Given the description of an element on the screen output the (x, y) to click on. 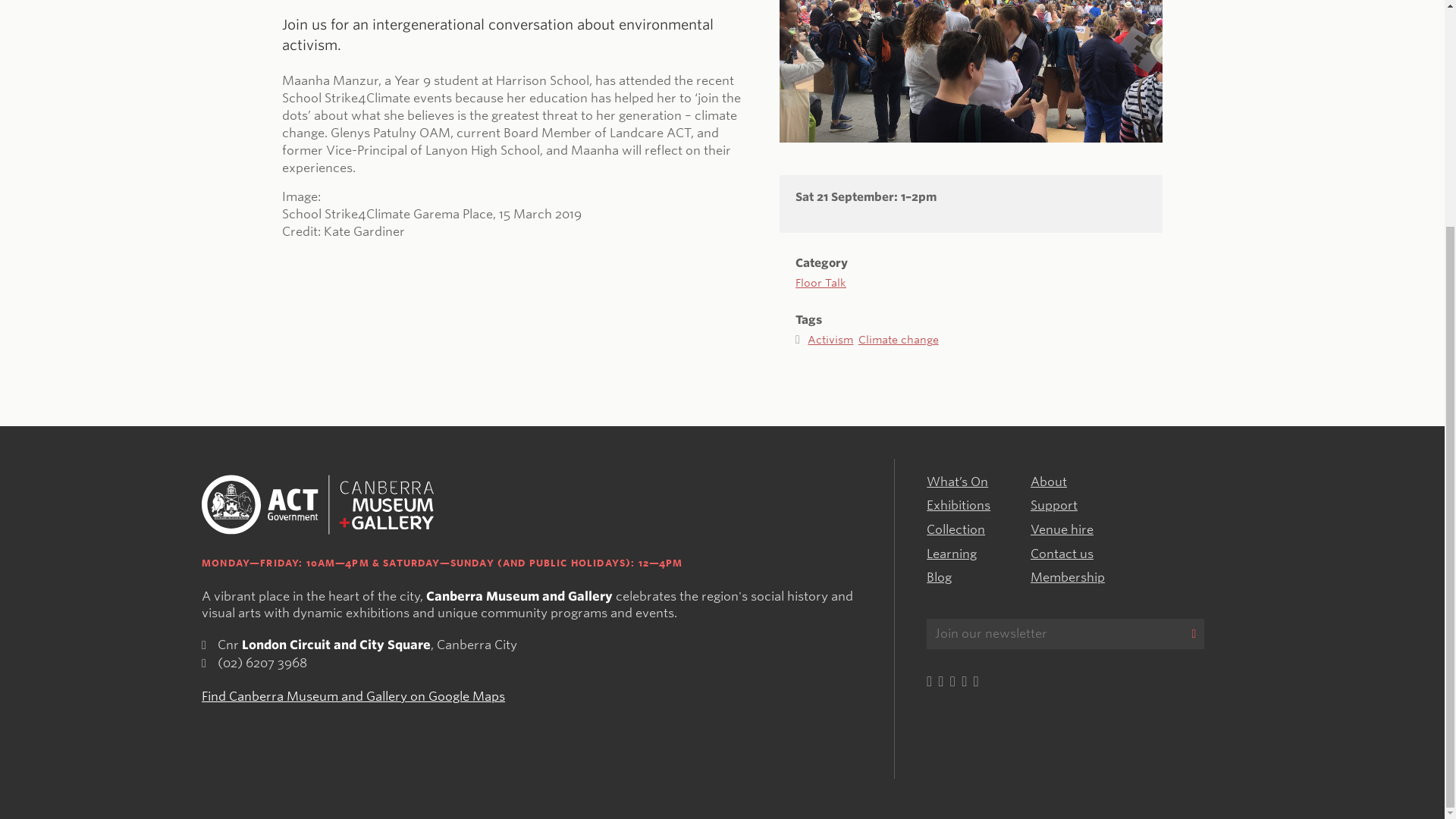
Collection (955, 529)
Contact us (1061, 554)
Learning (951, 554)
Venue hire (1061, 529)
Support (1053, 504)
Canberra Museum and Gallery (317, 504)
Activism (832, 339)
Blog (939, 577)
Floor Talk (819, 270)
Find Canberra Museum and Gallery on Google Maps (353, 696)
About (1048, 481)
Exhibitions (958, 504)
Climate change (899, 339)
